Given the description of an element on the screen output the (x, y) to click on. 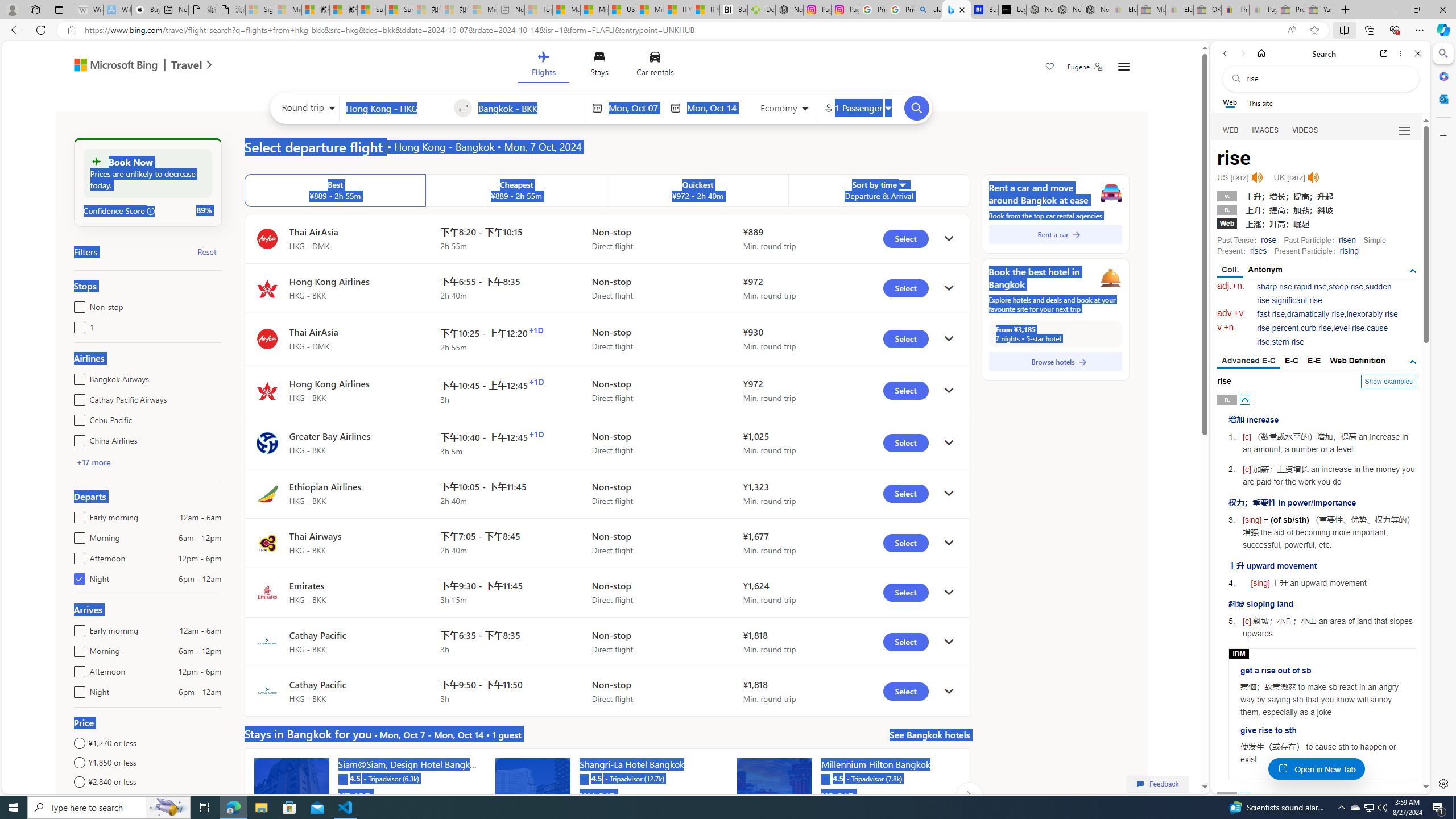
Buy iPad - Apple (145, 9)
Night6pm - 12am (76, 689)
risen (1347, 239)
Top Stories - MSN - Sleeping (538, 9)
Select trip type (305, 110)
Search the web (1326, 78)
rising (1348, 250)
Microsoft Bing (110, 65)
Start Date (636, 107)
